Given the description of an element on the screen output the (x, y) to click on. 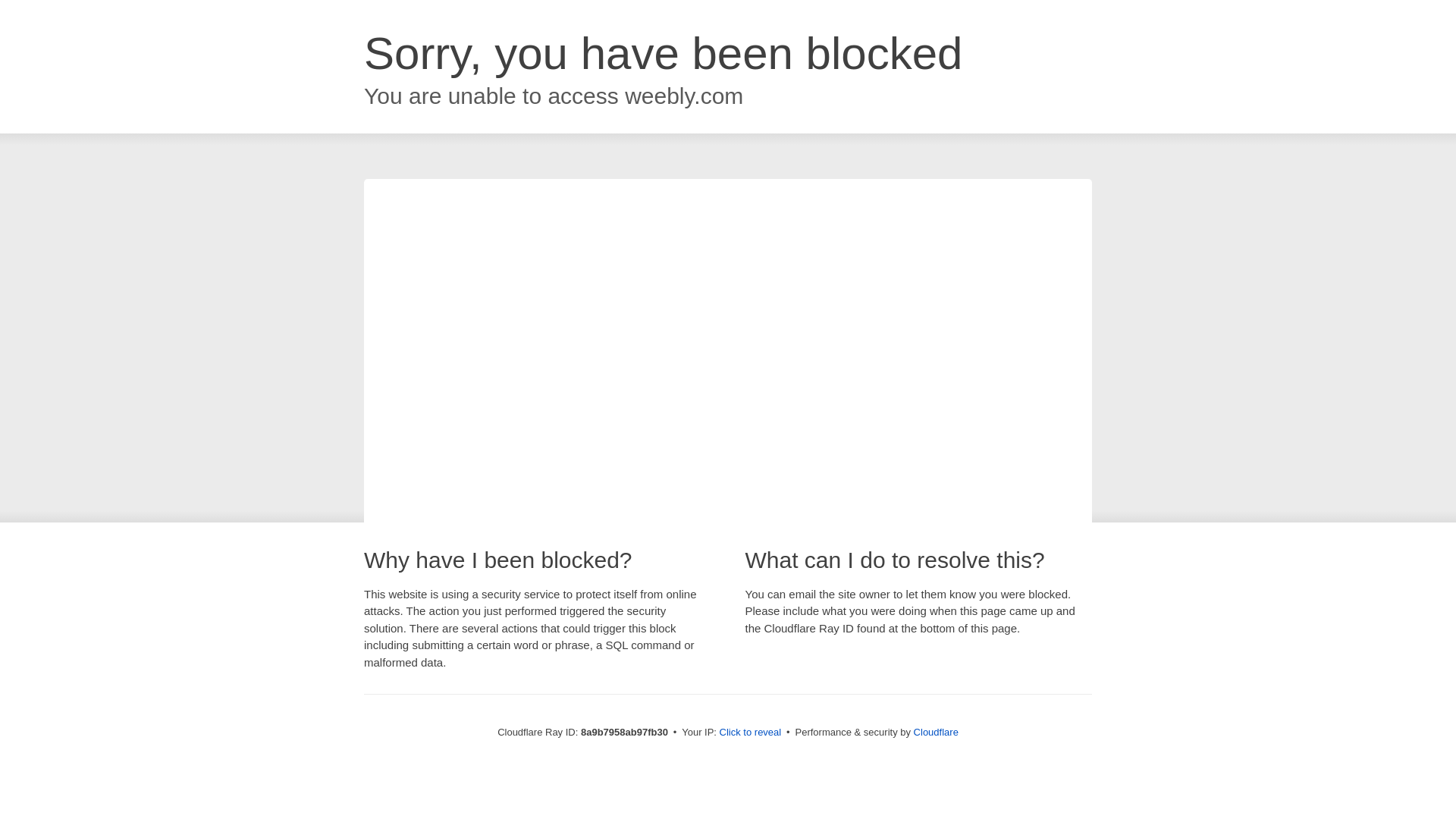
Click to reveal (750, 732)
Cloudflare (936, 731)
